Given the description of an element on the screen output the (x, y) to click on. 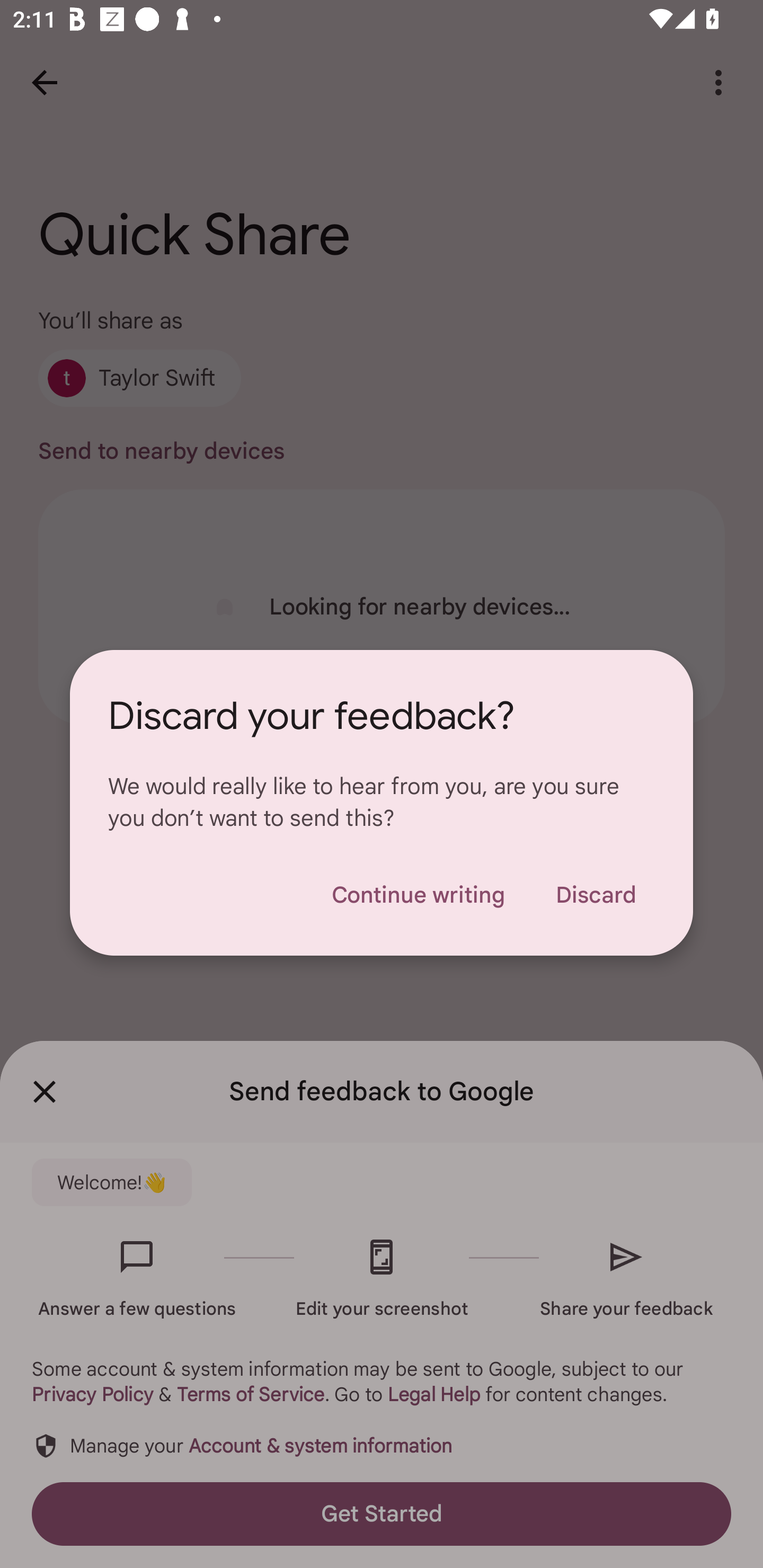
Continue writing (417, 894)
Discard (595, 894)
